Given the description of an element on the screen output the (x, y) to click on. 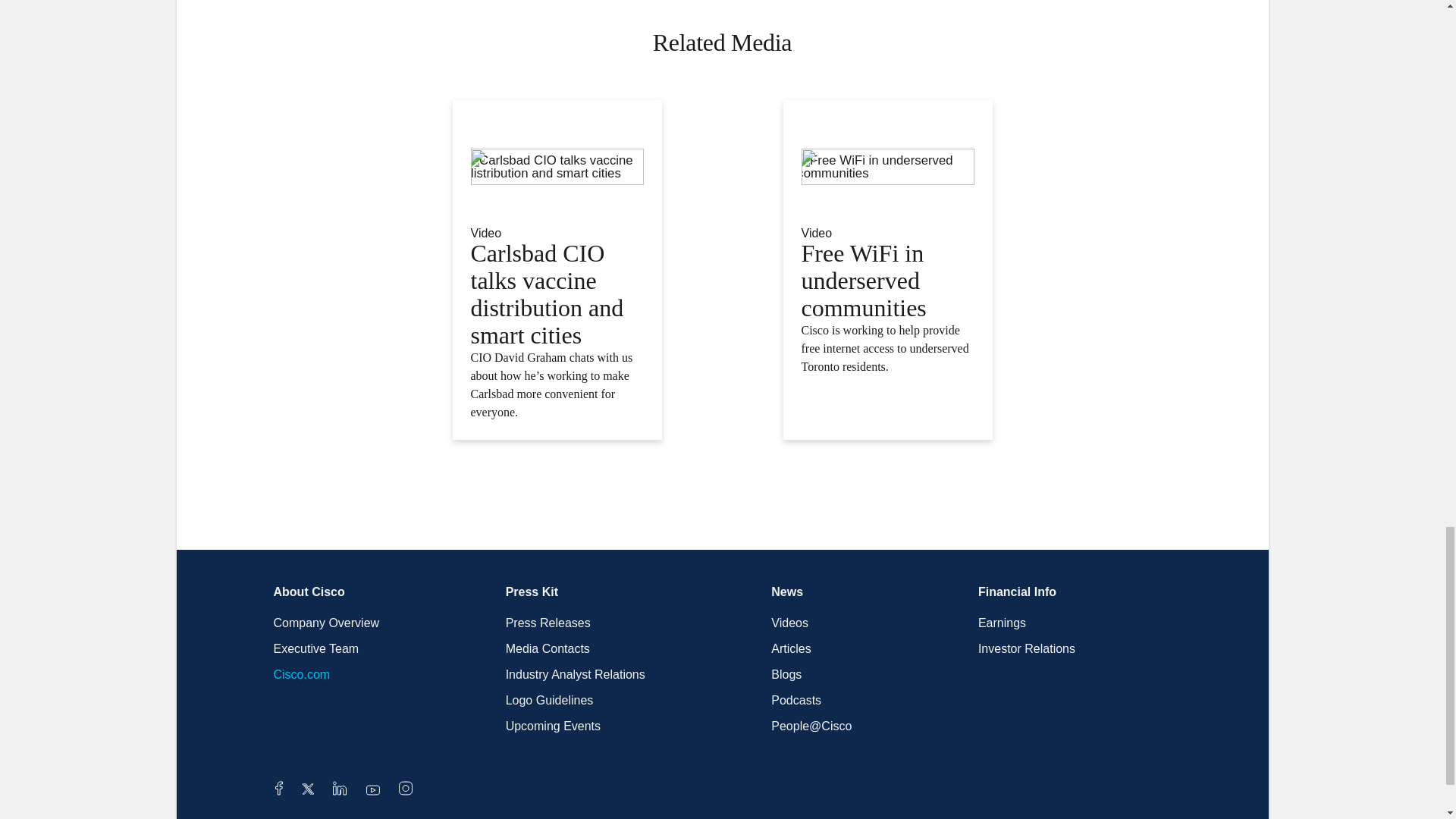
instagram (405, 790)
linkedin (340, 790)
facebook (278, 790)
twitter (309, 790)
youtube (373, 790)
